Given the description of an element on the screen output the (x, y) to click on. 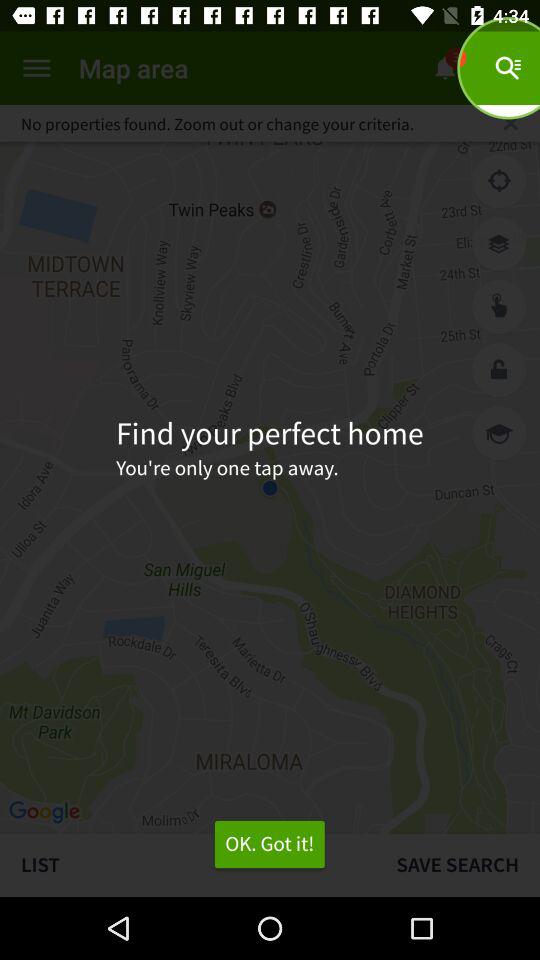
search your house (499, 244)
